Given the description of an element on the screen output the (x, y) to click on. 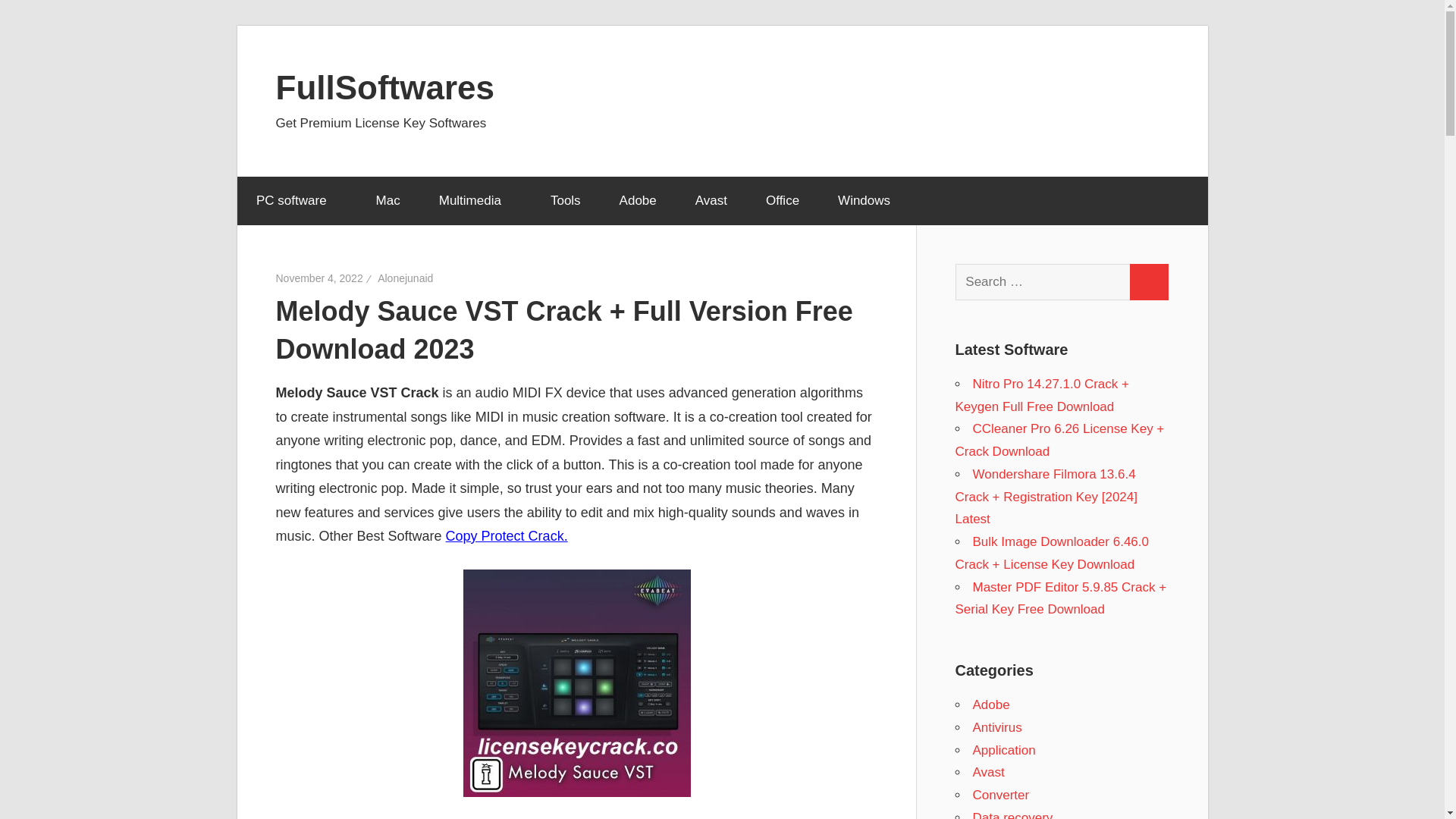
Copy Protect Crack. (506, 535)
FullSoftwares (385, 86)
12:53 pm (319, 277)
Mac (387, 200)
PC software (295, 200)
Alonejunaid (404, 277)
View all posts by Alonejunaid (404, 277)
Avast (710, 200)
Tools (565, 200)
Adobe (637, 200)
November 4, 2022 (319, 277)
Office (781, 200)
Multimedia (475, 200)
Windows (864, 200)
